Given the description of an element on the screen output the (x, y) to click on. 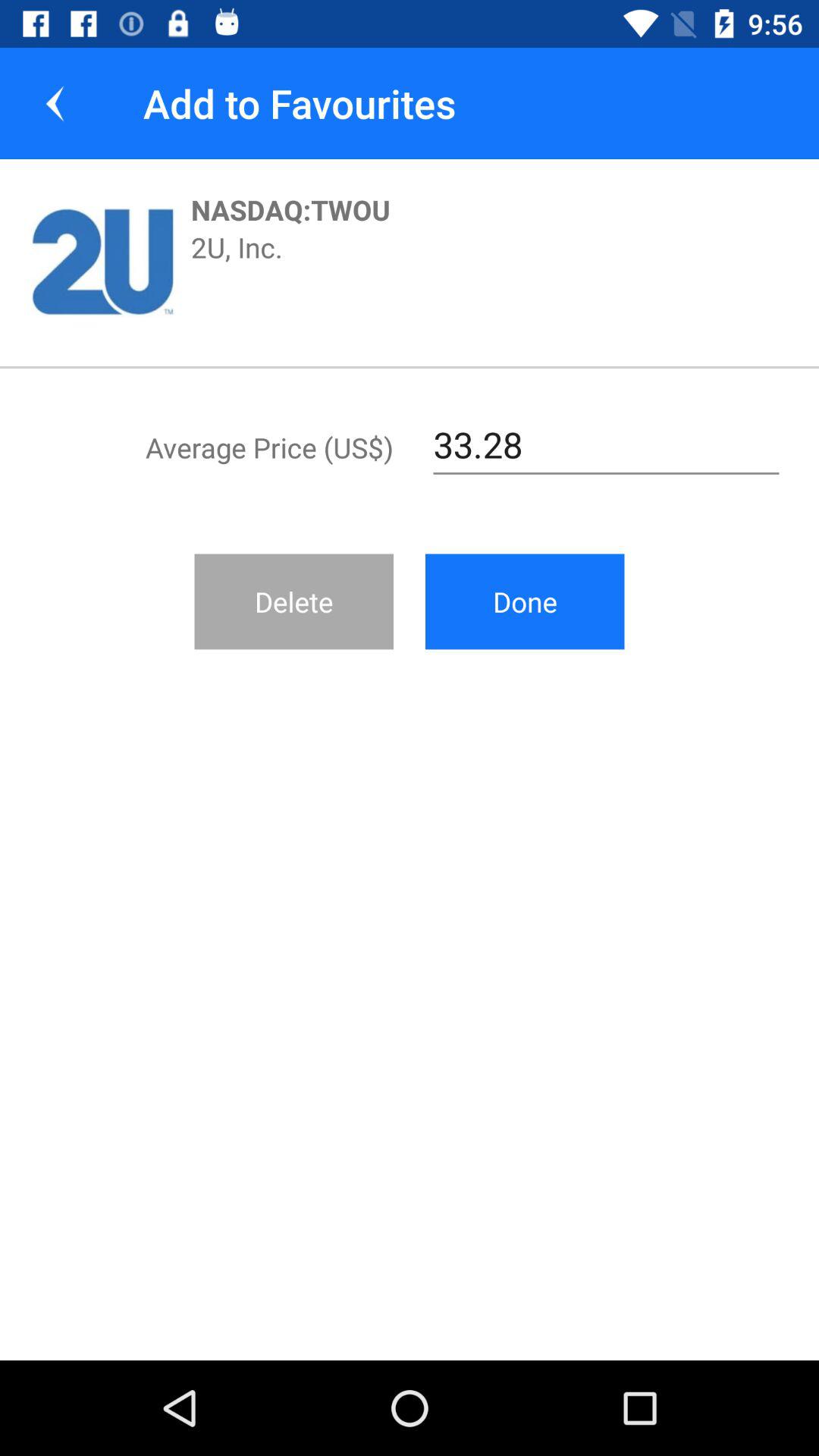
turn off icon below the average price (us$) (293, 601)
